Given the description of an element on the screen output the (x, y) to click on. 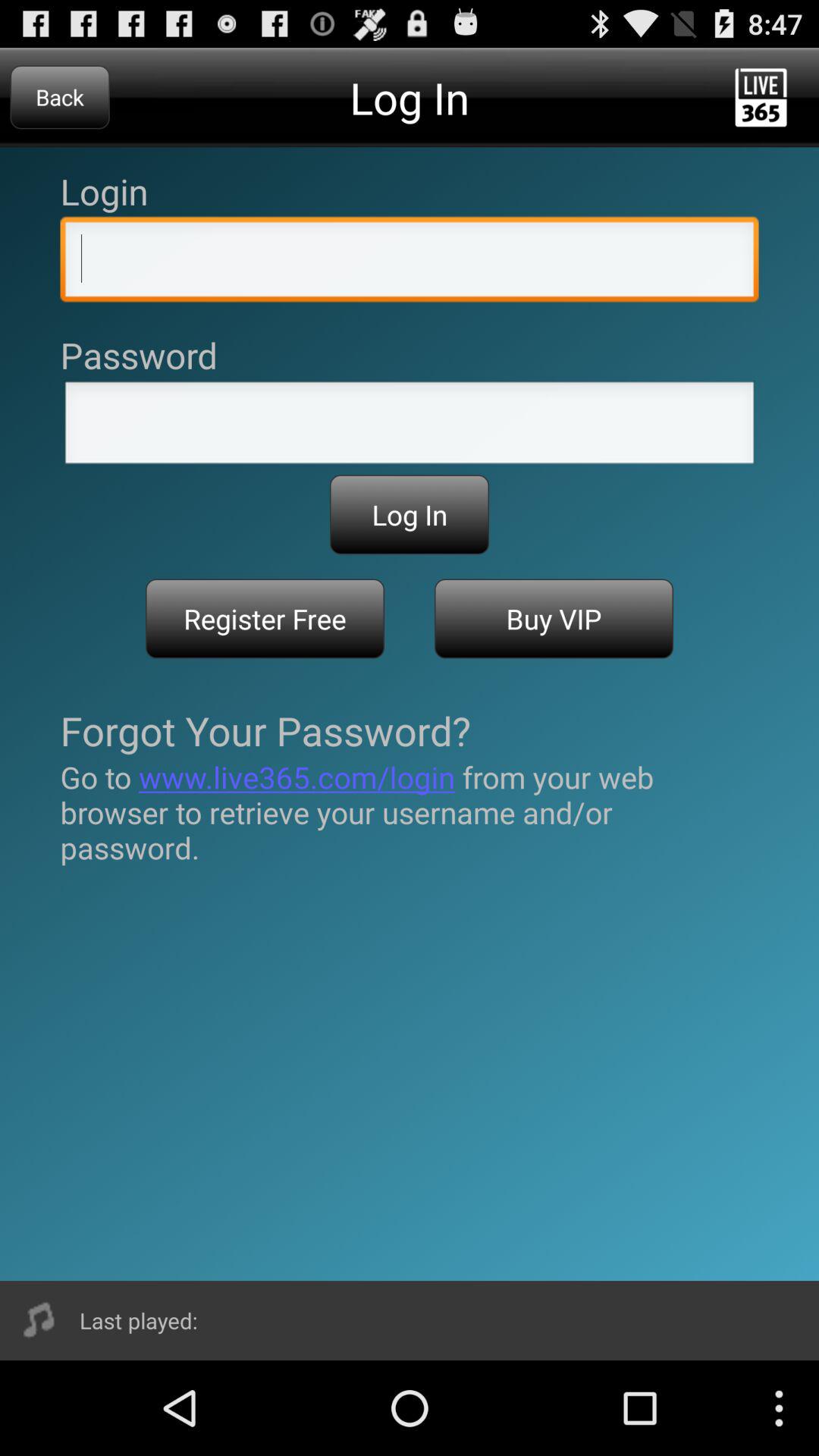
password field (409, 426)
